Given the description of an element on the screen output the (x, y) to click on. 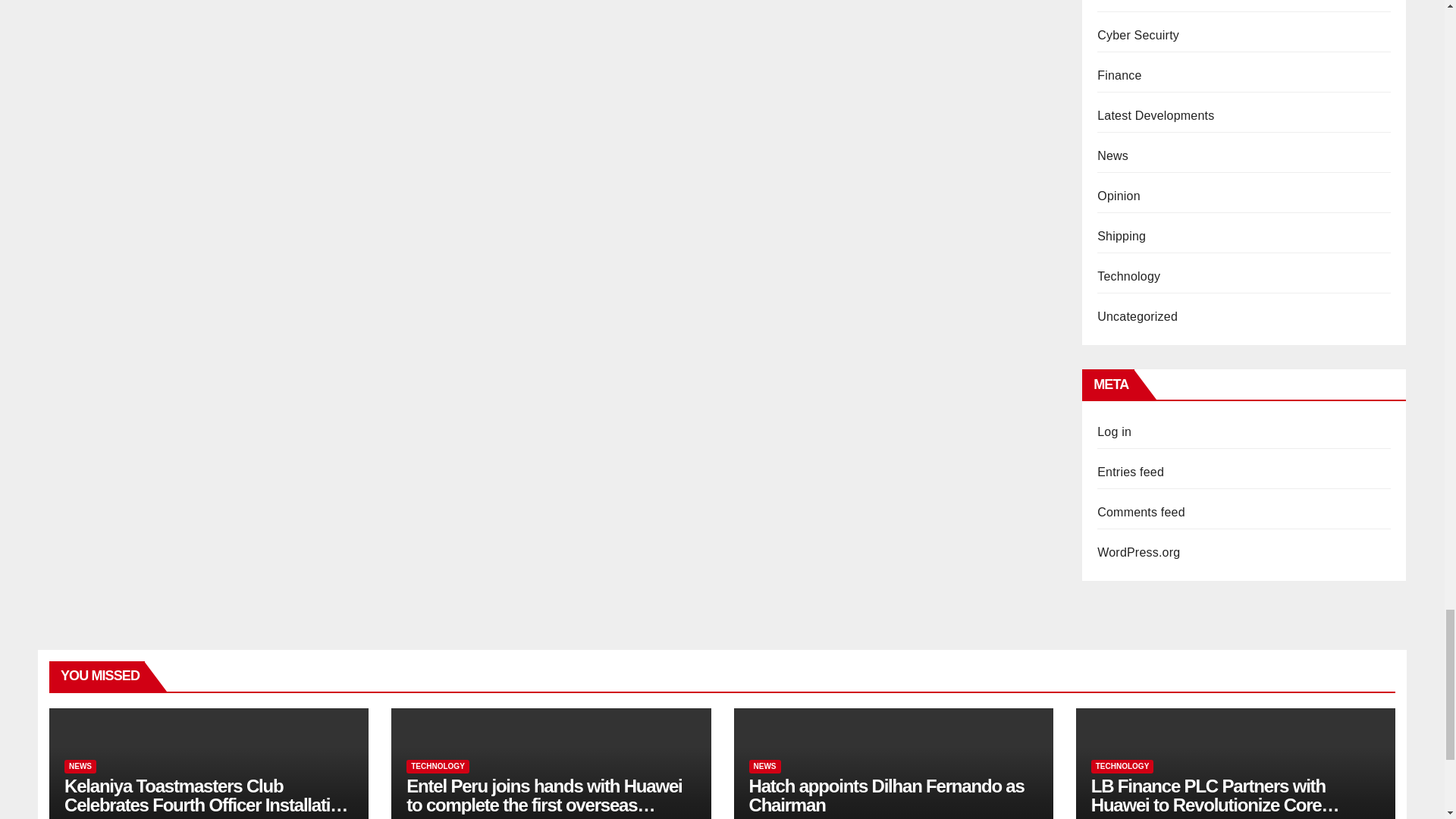
Permalink to: Hatch appoints Dilhan Fernando as Chairman (887, 794)
